Given the description of an element on the screen output the (x, y) to click on. 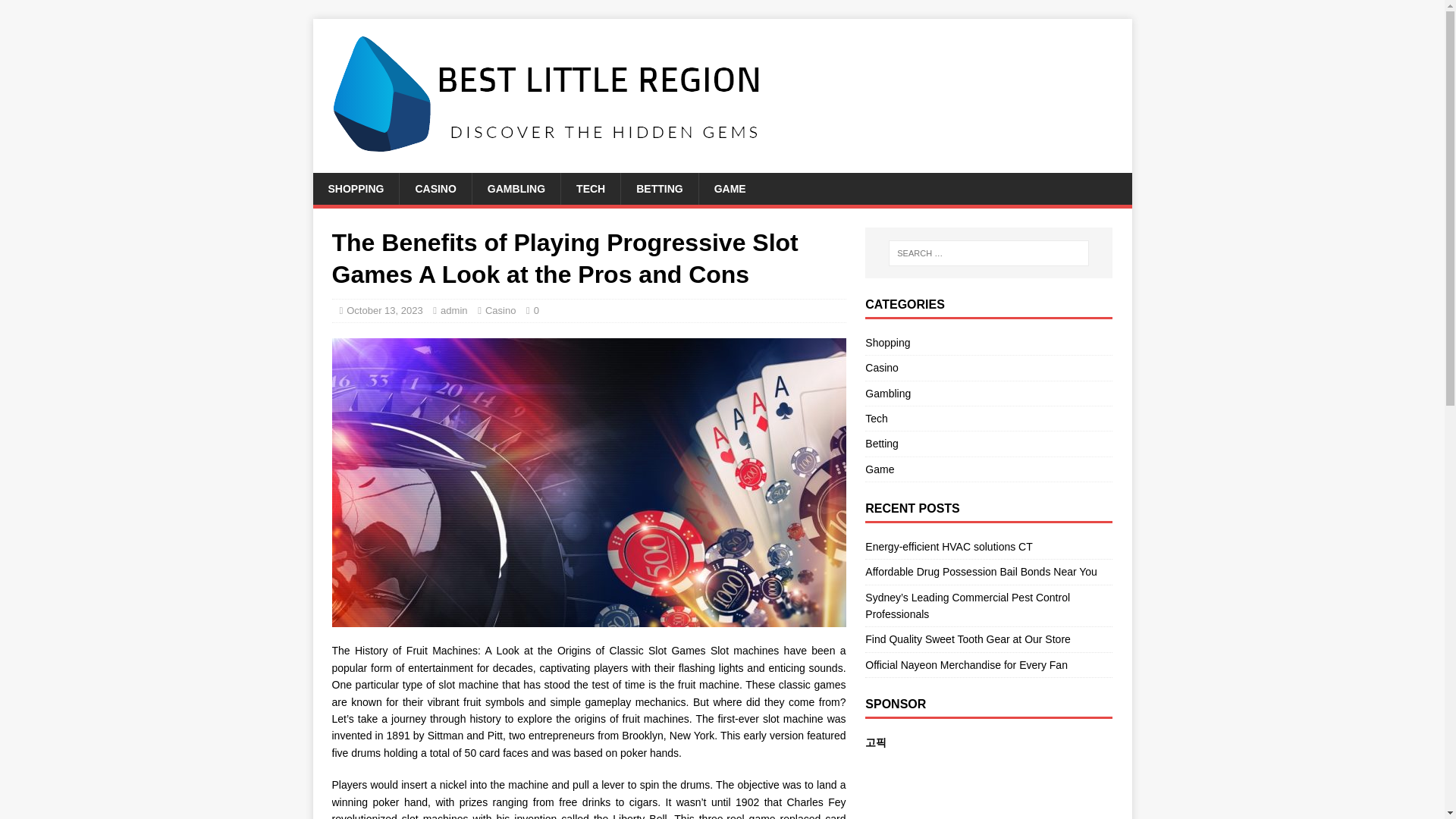
Energy-efficient HVAC solutions CT (948, 546)
Affordable Drug Possession Bail Bonds Near You (980, 571)
Game (988, 469)
Gambling (988, 393)
Find Quality Sweet Tooth Gear at Our Store (967, 639)
Casino (499, 310)
TECH (590, 188)
GAME (729, 188)
CASINO (434, 188)
Official Nayeon Merchandise for Every Fan (965, 664)
Betting (988, 443)
Shopping (988, 344)
GAMBLING (515, 188)
Tech (988, 418)
October 13, 2023 (384, 310)
